Given the description of an element on the screen output the (x, y) to click on. 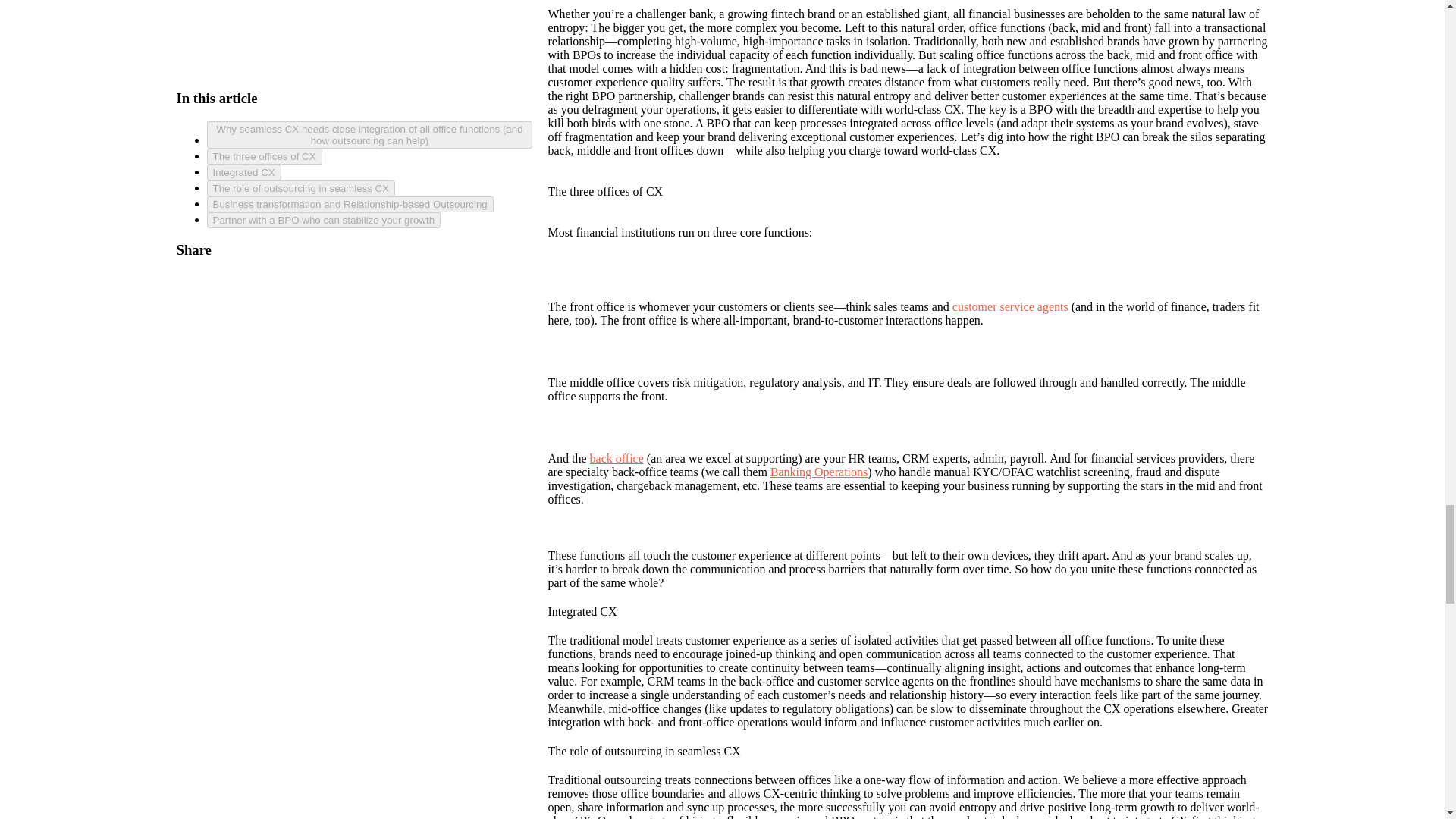
Integrated CX (369, 75)
The three offices of CX (369, 59)
Business transformation and Relationship-based Outsourcing (369, 107)
The role of outsourcing in seamless CX (369, 91)
Partner with a BPO who can stabilize your growth (369, 123)
